Given the description of an element on the screen output the (x, y) to click on. 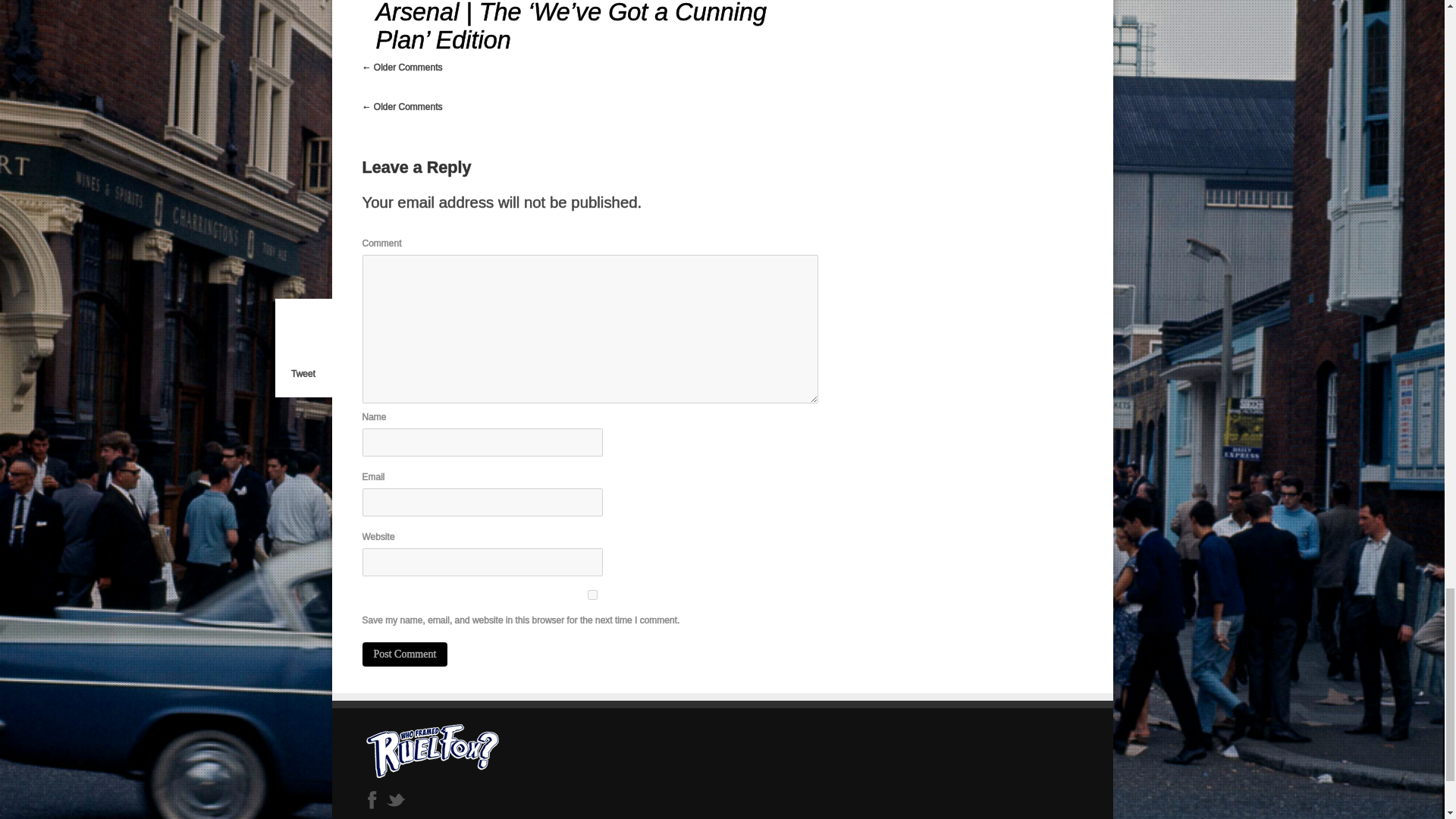
Post Comment (405, 654)
yes (593, 594)
Post Comment (405, 654)
